Given the description of an element on the screen output the (x, y) to click on. 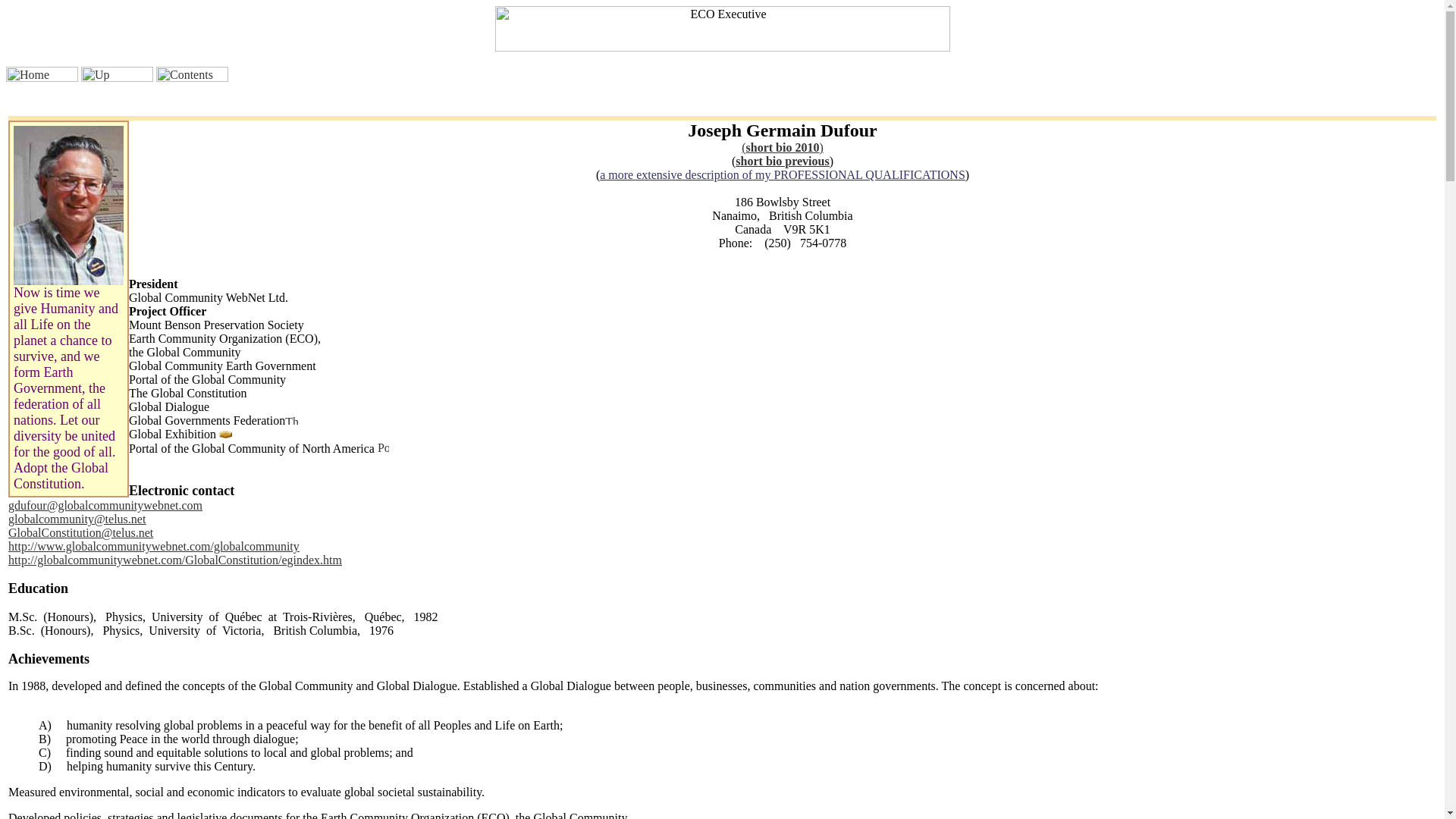
short bio previous (781, 160)
